Given the description of an element on the screen output the (x, y) to click on. 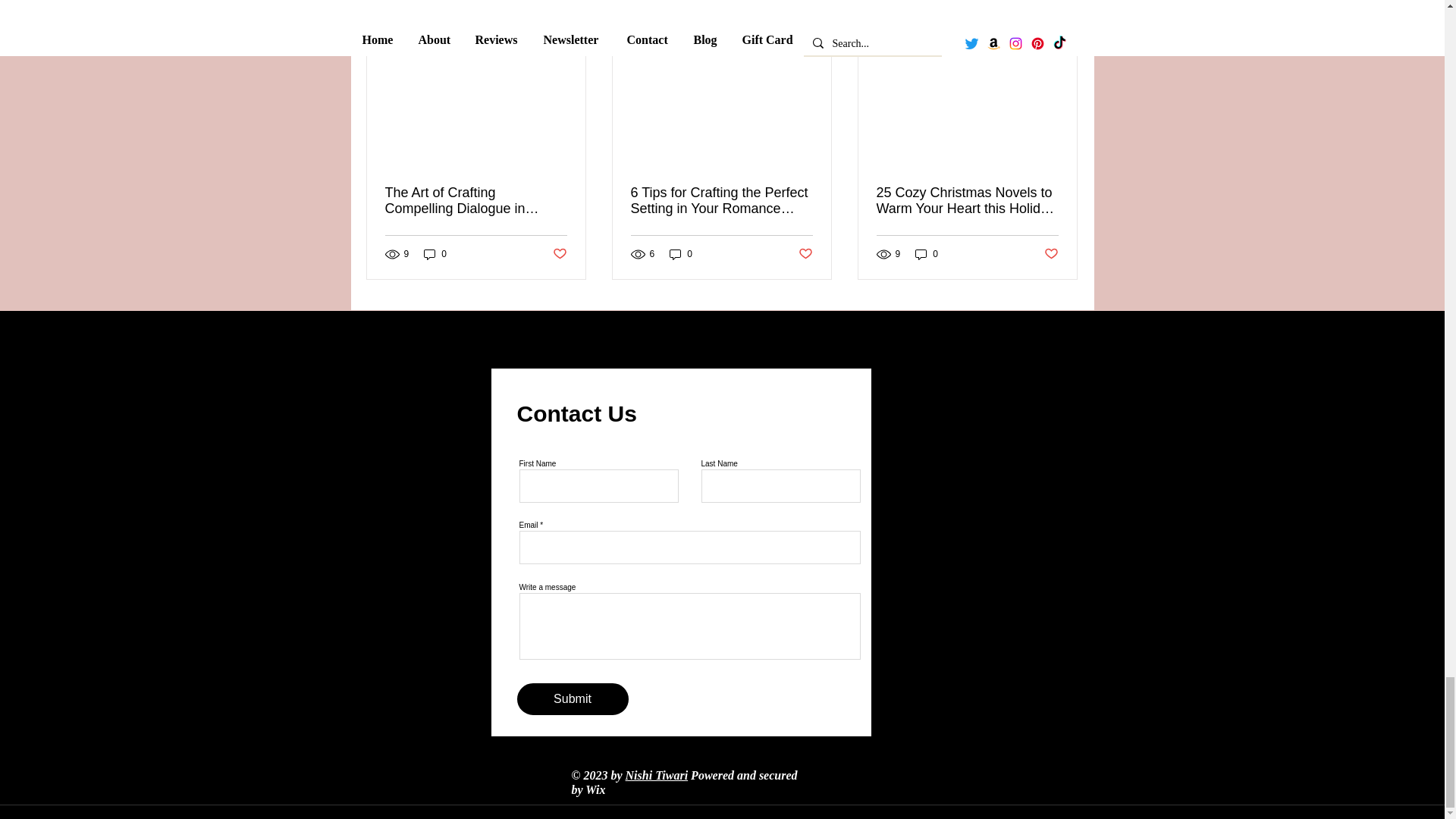
The Art of Crafting Compelling Dialogue in Romance Writing (476, 201)
0 (926, 254)
Post not marked as liked (558, 253)
Post not marked as liked (804, 253)
0 (435, 254)
0 (681, 254)
See All (1061, 16)
